Given the description of an element on the screen output the (x, y) to click on. 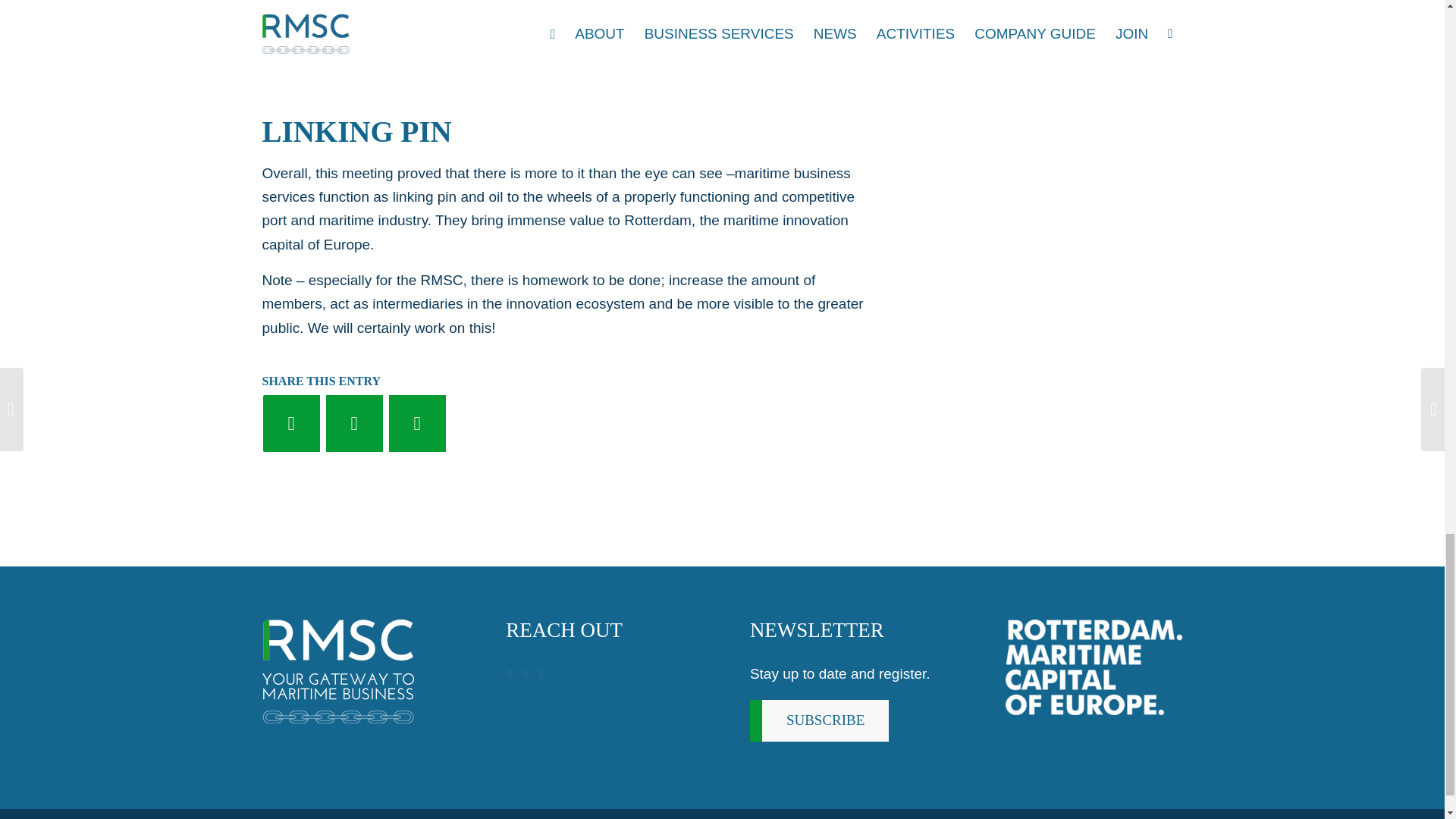
Footer-Logo-RMSC-A-DEF (337, 671)
